Given the description of an element on the screen output the (x, y) to click on. 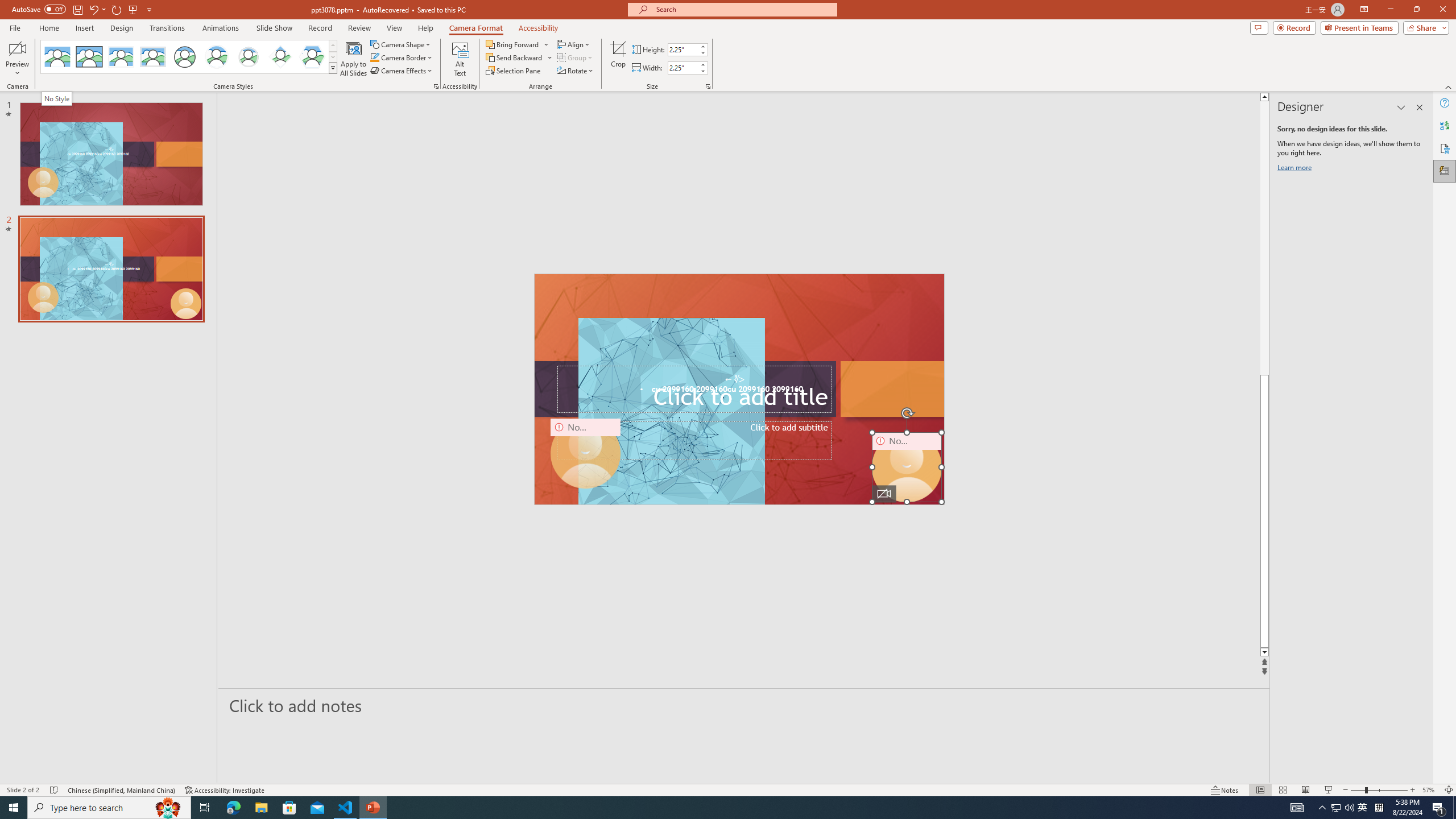
Preview (17, 58)
Center Shadow Diamond (280, 56)
